Given the description of an element on the screen output the (x, y) to click on. 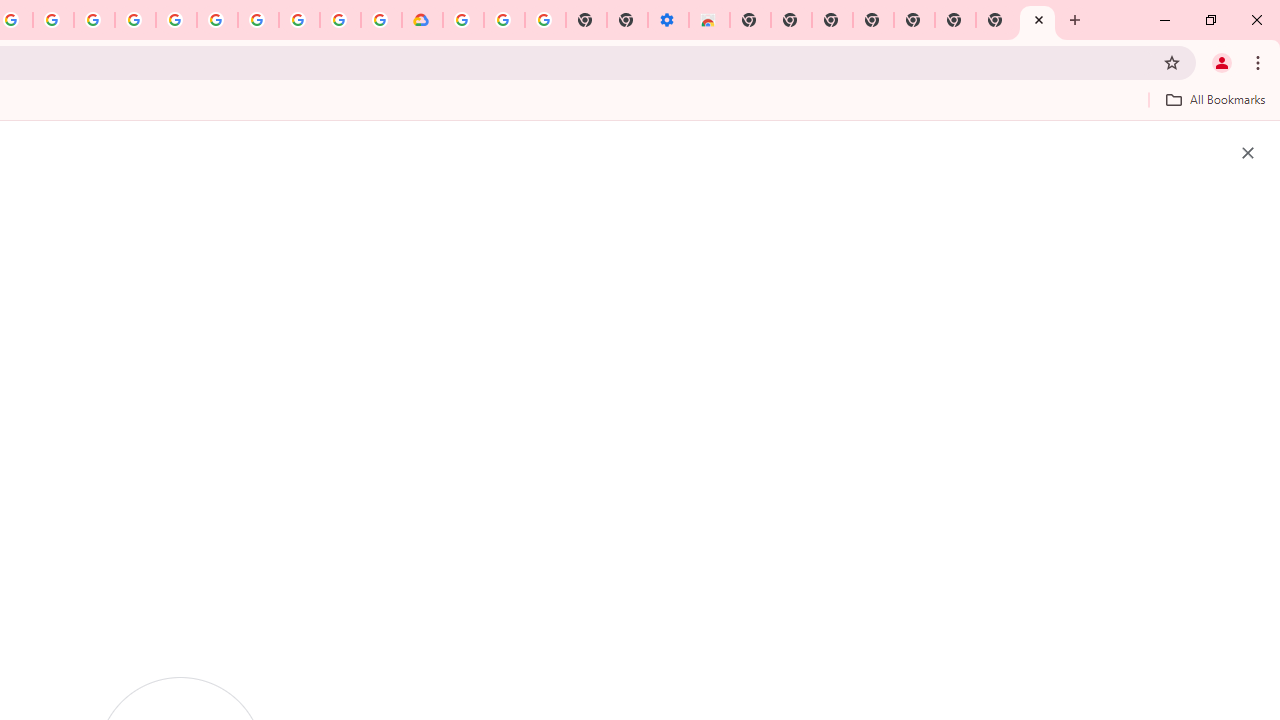
Turn cookies on or off - Computer - Google Account Help (544, 20)
Browse the Google Chrome Community - Google Chrome Community (381, 20)
Settings - Accessibility (667, 20)
Ad Settings (135, 20)
New Tab (749, 20)
